Given the description of an element on the screen output the (x, y) to click on. 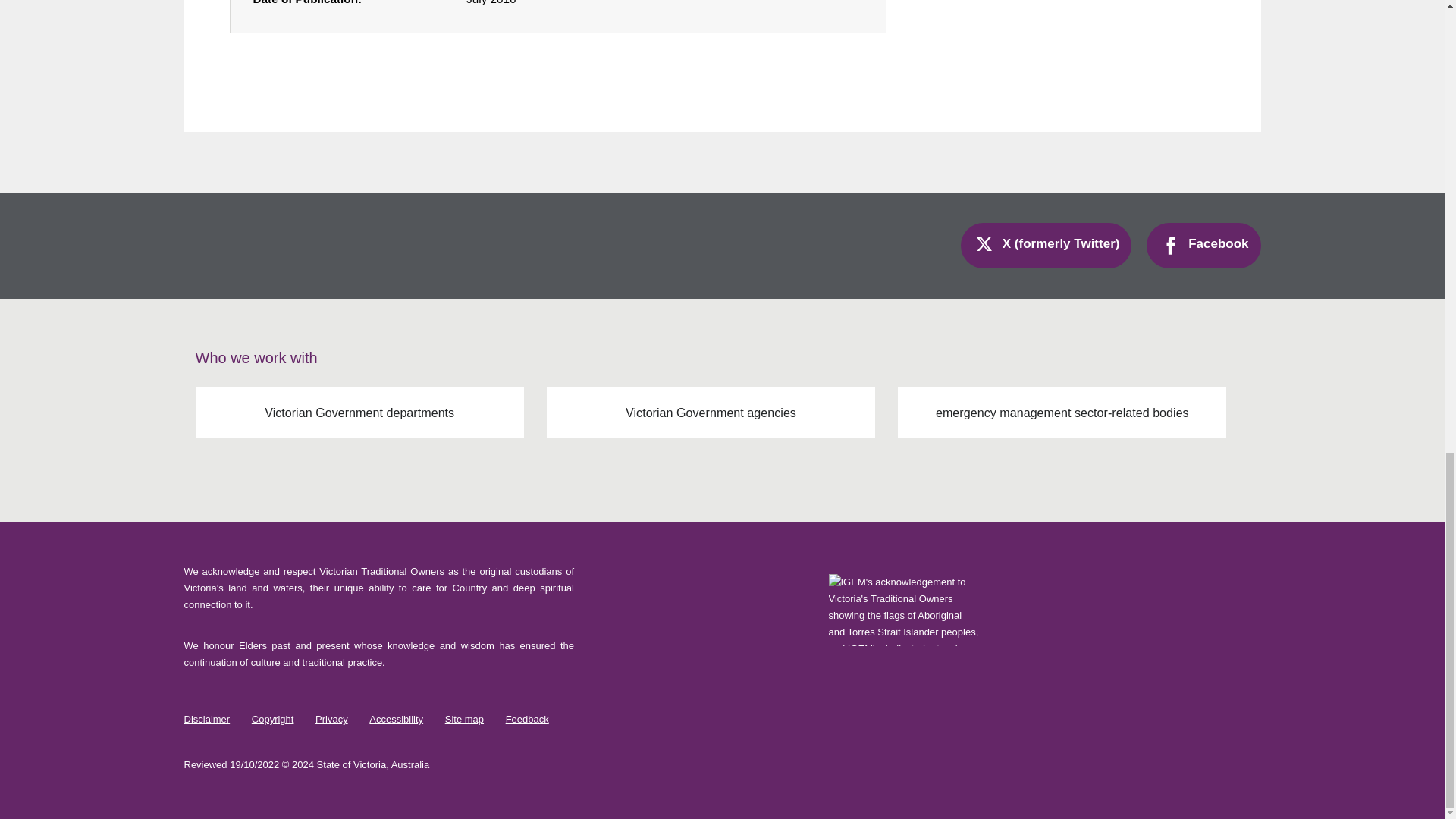
Website feedback (536, 719)
